Given the description of an element on the screen output the (x, y) to click on. 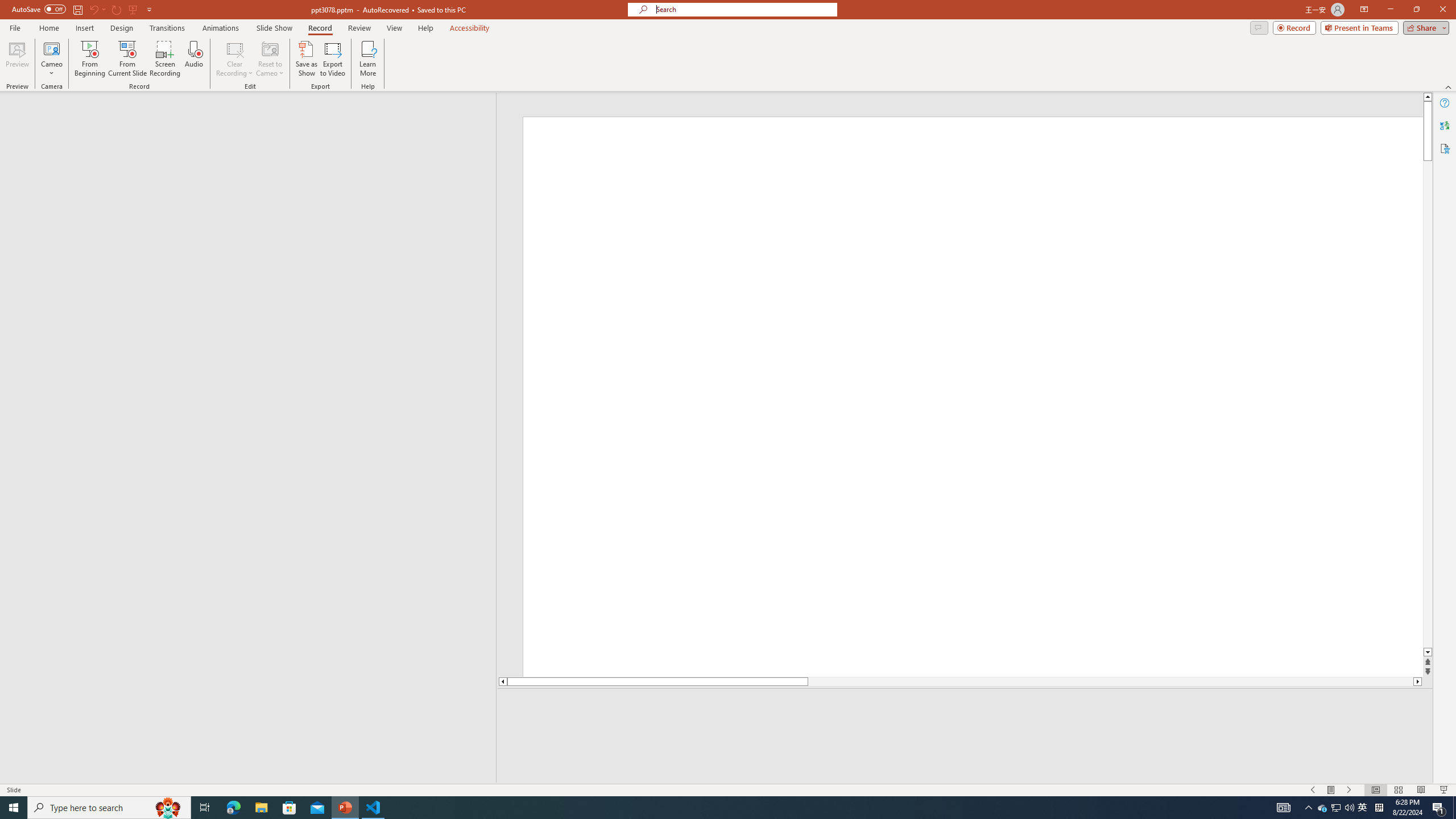
From Current Slide... (127, 58)
Audio (193, 58)
Outline (252, 114)
